Given the description of an element on the screen output the (x, y) to click on. 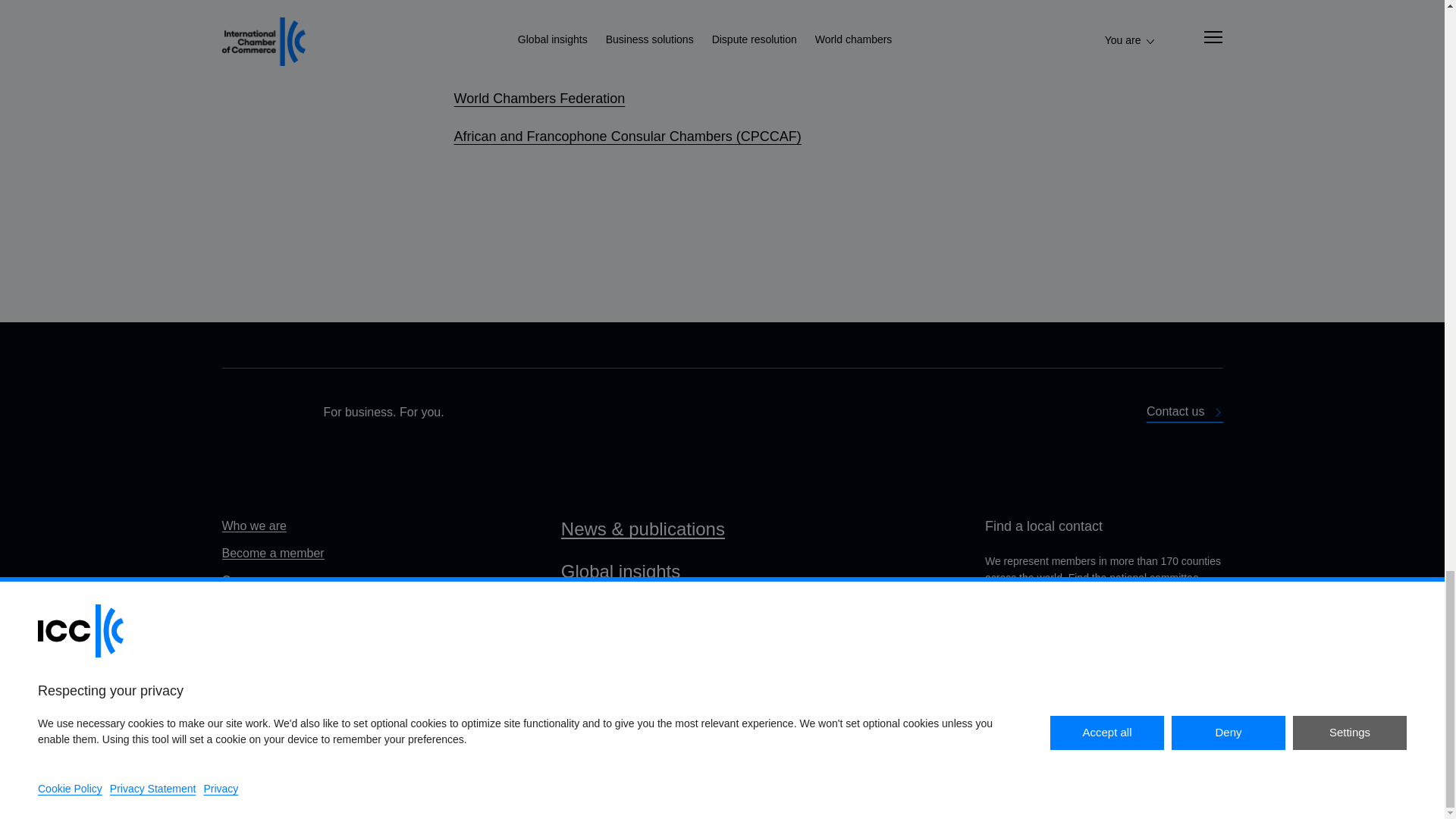
9th World Chambers Congress (546, 22)
